Given the description of an element on the screen output the (x, y) to click on. 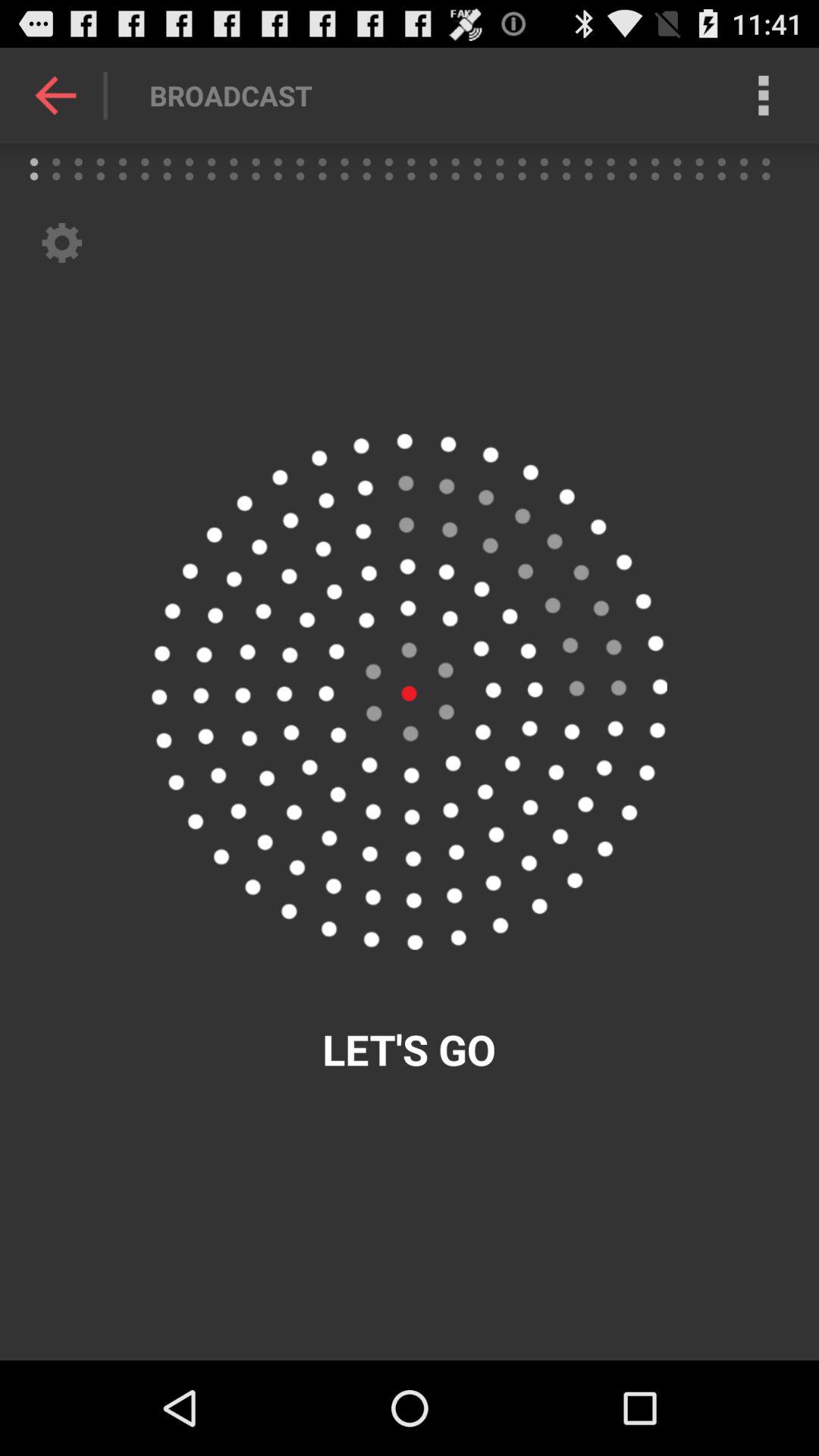
click for sound (409, 691)
